Given the description of an element on the screen output the (x, y) to click on. 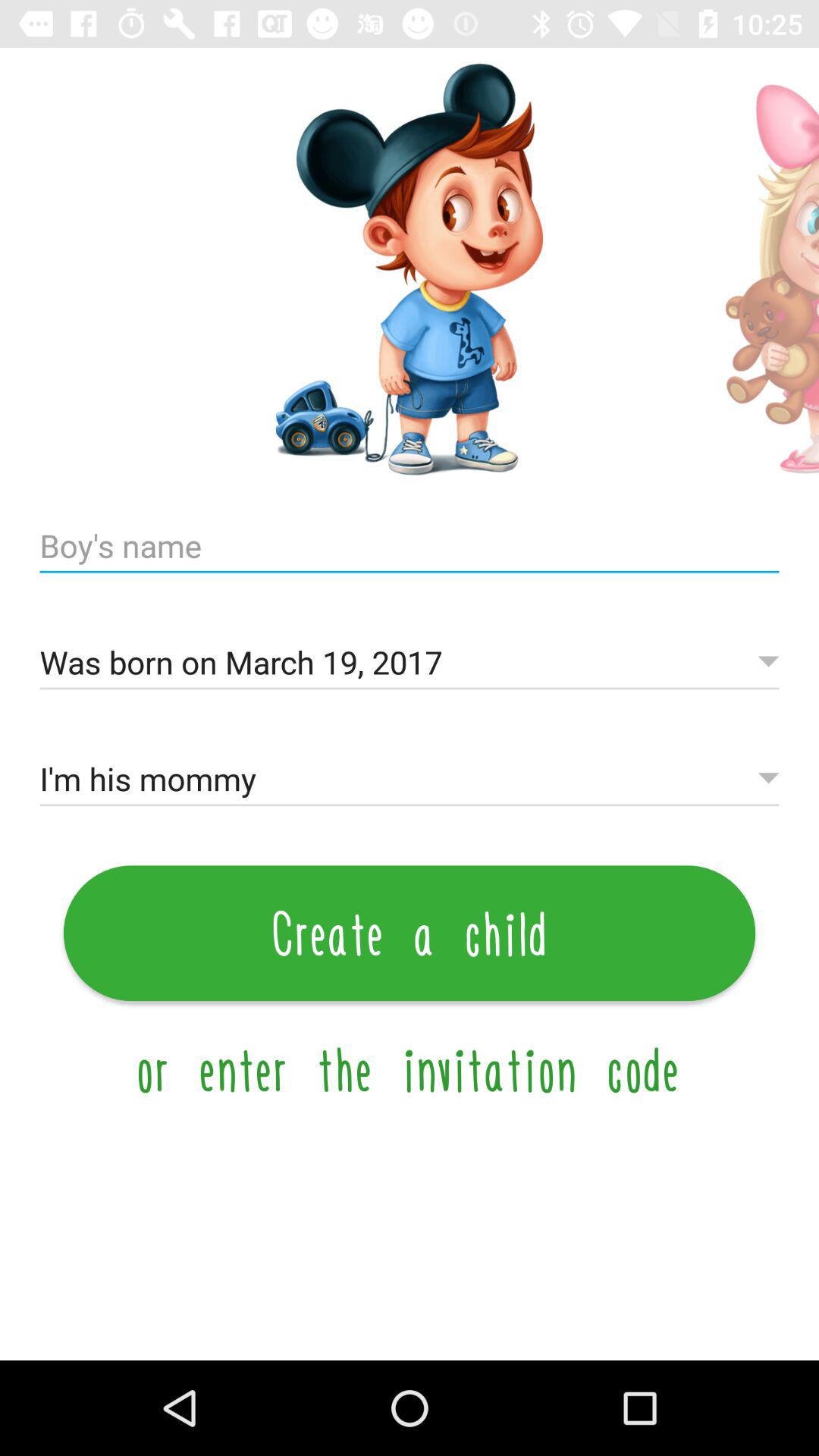
open the item below the was born on icon (409, 779)
